Given the description of an element on the screen output the (x, y) to click on. 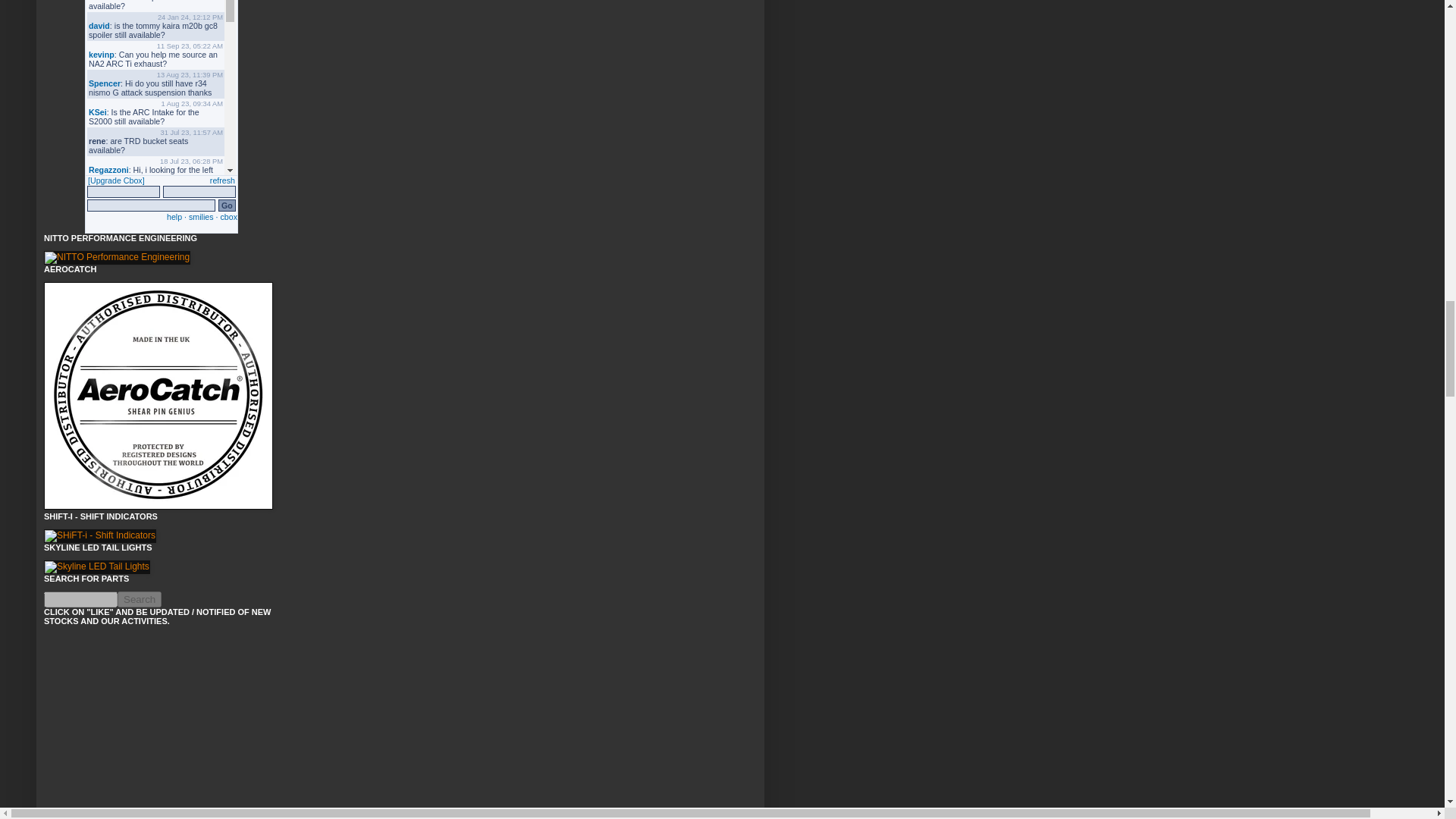
search (139, 599)
Search (139, 599)
Search (139, 599)
search (80, 599)
Search (139, 599)
